Given the description of an element on the screen output the (x, y) to click on. 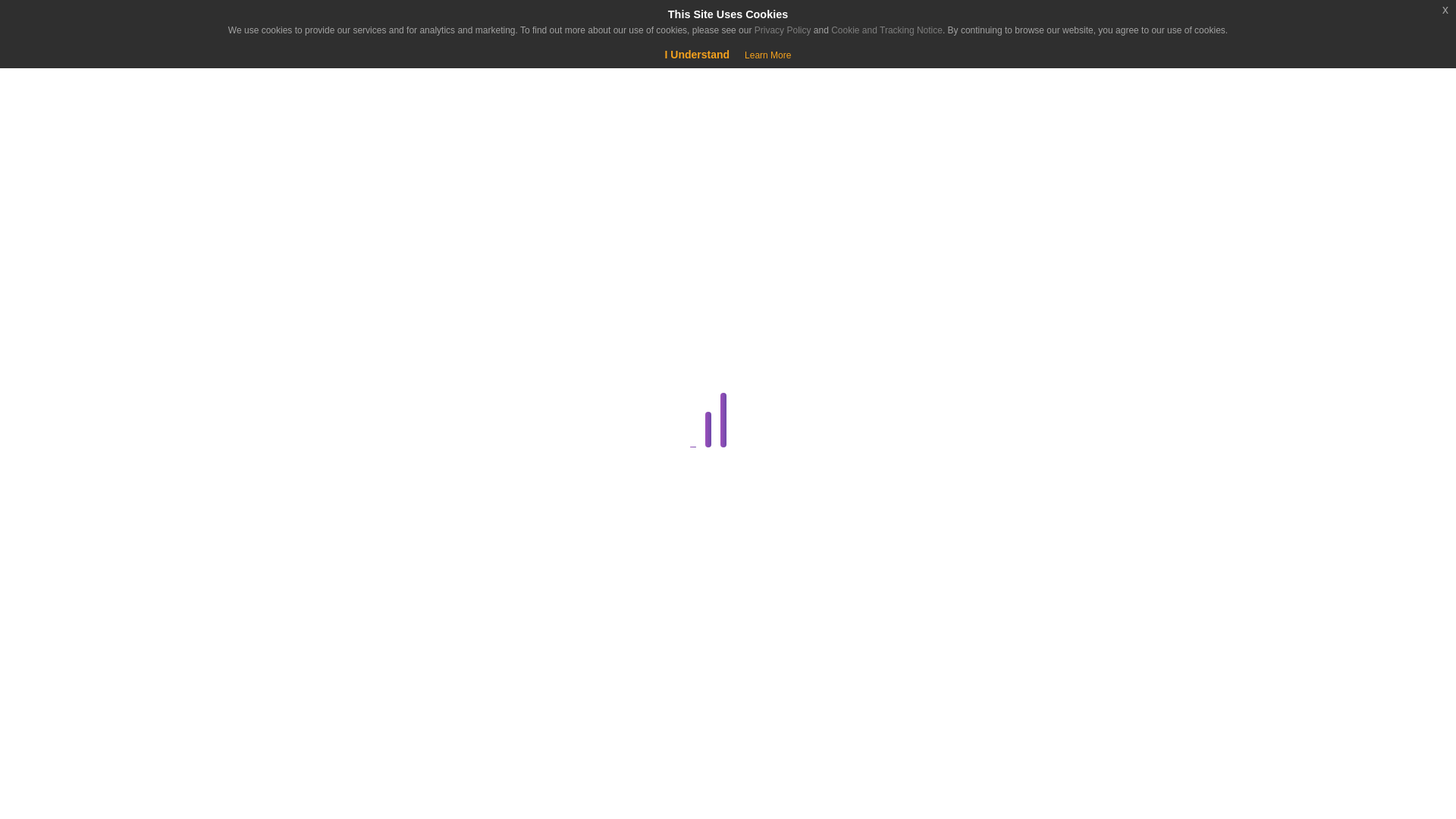
FTP (283, 640)
Video Tutorials (281, 816)
General (281, 677)
Linux Administration (281, 750)
Dedicated Server Guides (281, 495)
Databases (281, 458)
Billing (281, 349)
Home (94, 138)
Domains and DNS (281, 531)
Hosting Dashboard (281, 713)
cPanel (281, 422)
Store (94, 176)
Software (281, 786)
Colocation Guides (283, 385)
Email (281, 604)
